Given the description of an element on the screen output the (x, y) to click on. 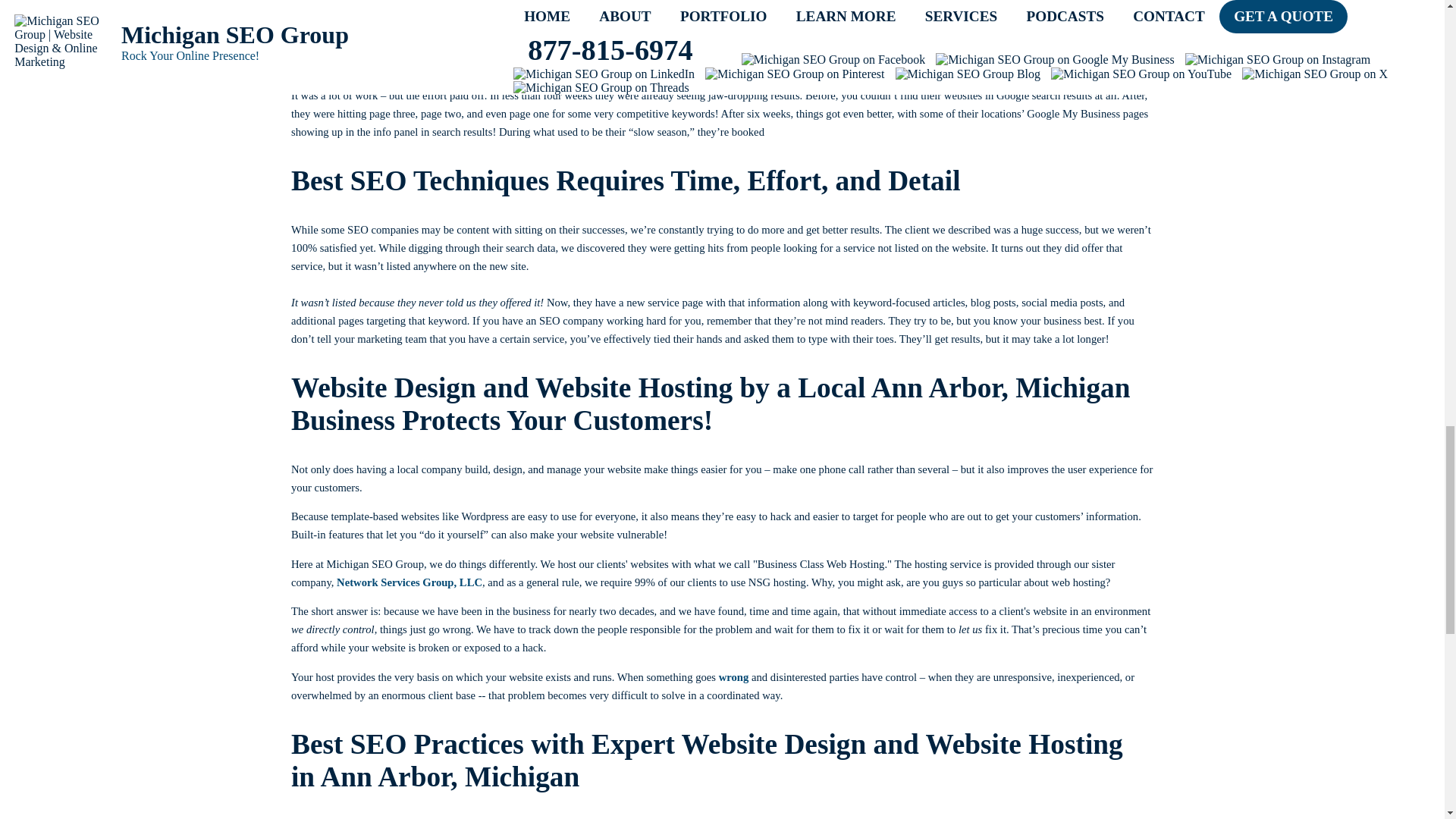
wrong (734, 676)
website hosting (475, 47)
Network Services Group, LLC (408, 582)
